Given the description of an element on the screen output the (x, y) to click on. 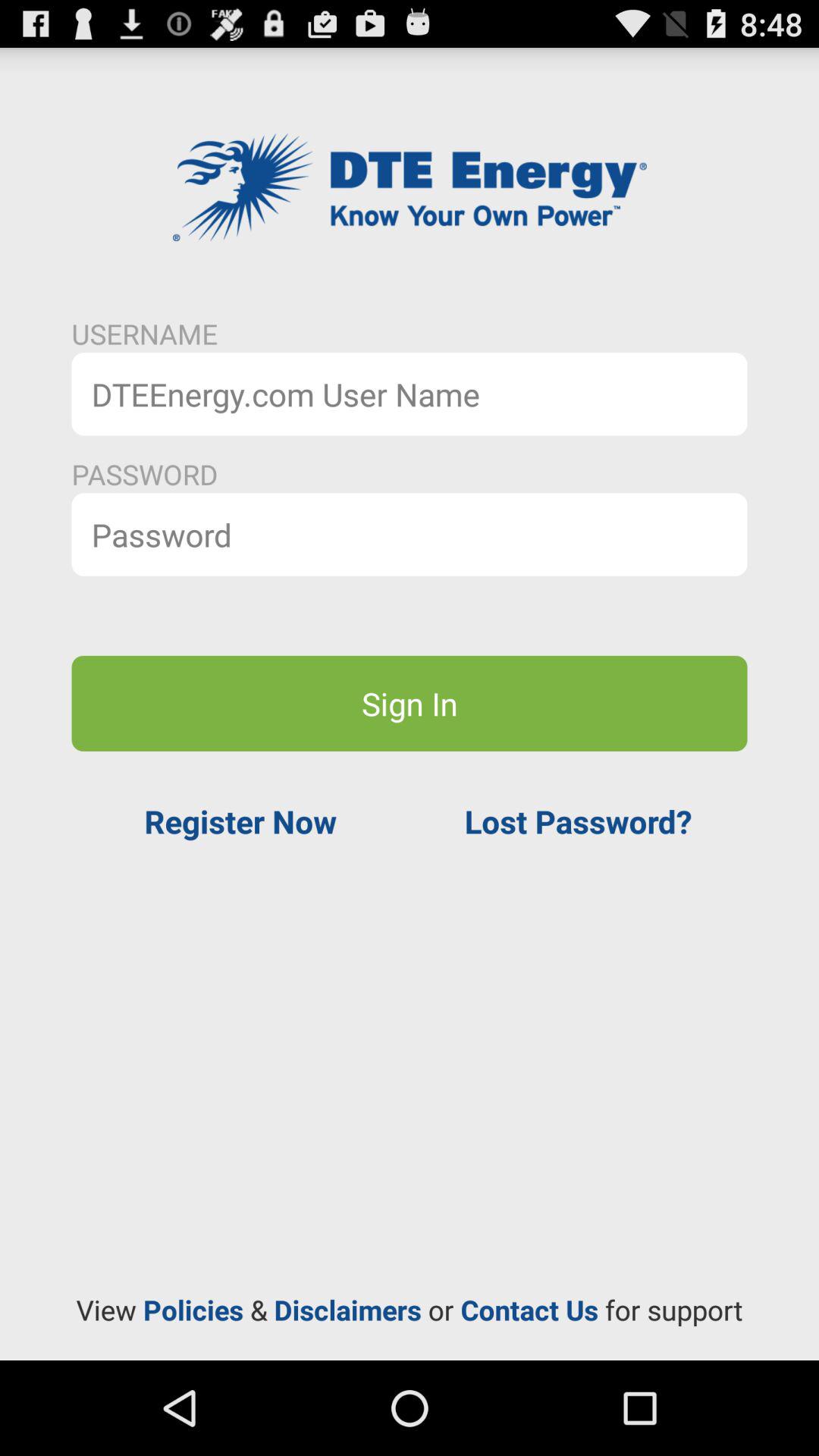
jump to sign in icon (409, 703)
